Given the description of an element on the screen output the (x, y) to click on. 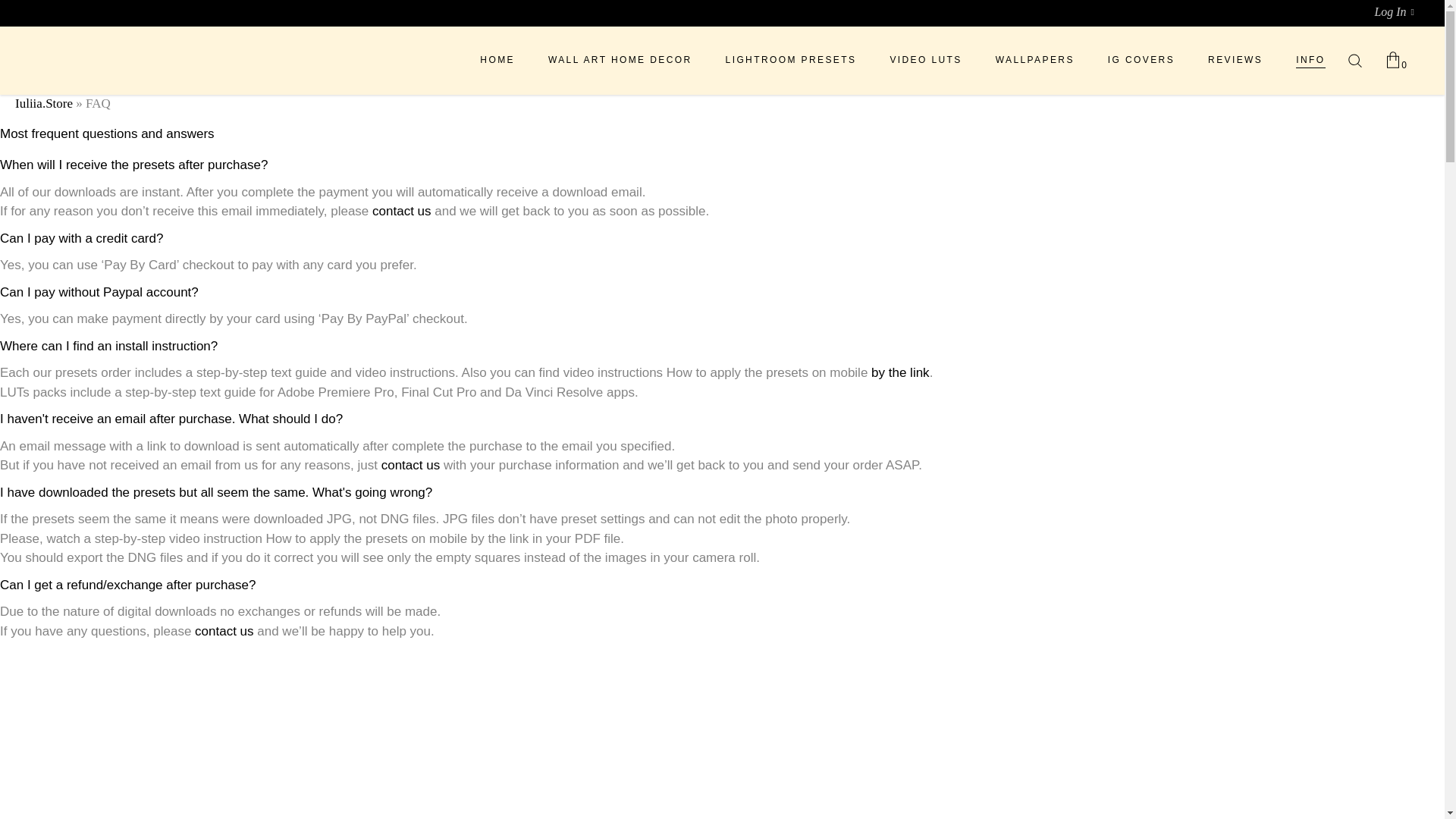
WALL ART HOME DECOR (620, 60)
Iuliia.Store (43, 103)
Log In (1393, 10)
You are here. (1034, 60)
HOME (497, 60)
LIGHTROOM PRESETS (791, 60)
